Given the description of an element on the screen output the (x, y) to click on. 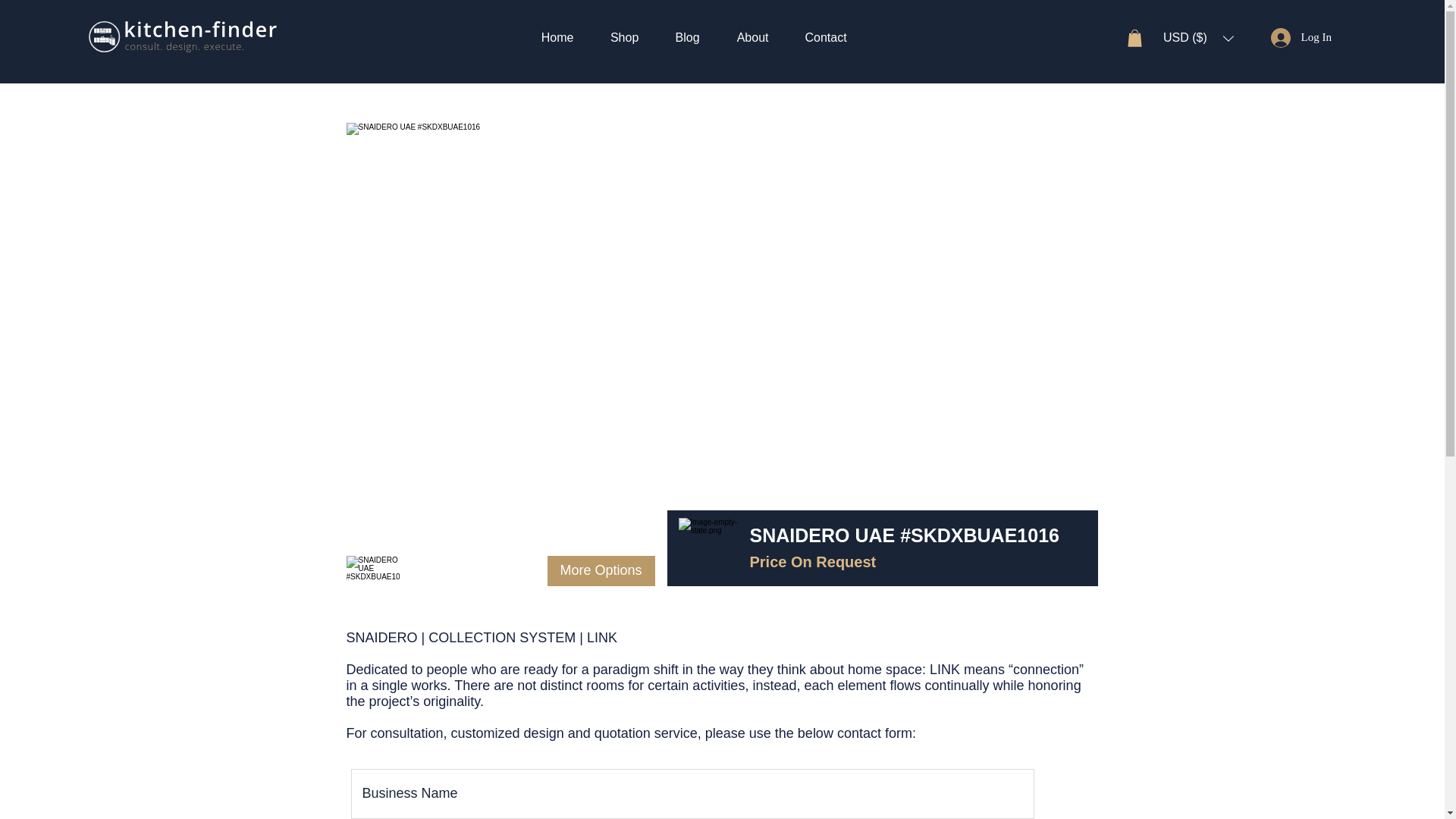
Blog (686, 37)
About (752, 37)
Home (557, 37)
Contact (825, 37)
Log In (1301, 36)
Shop (624, 37)
